Given the description of an element on the screen output the (x, y) to click on. 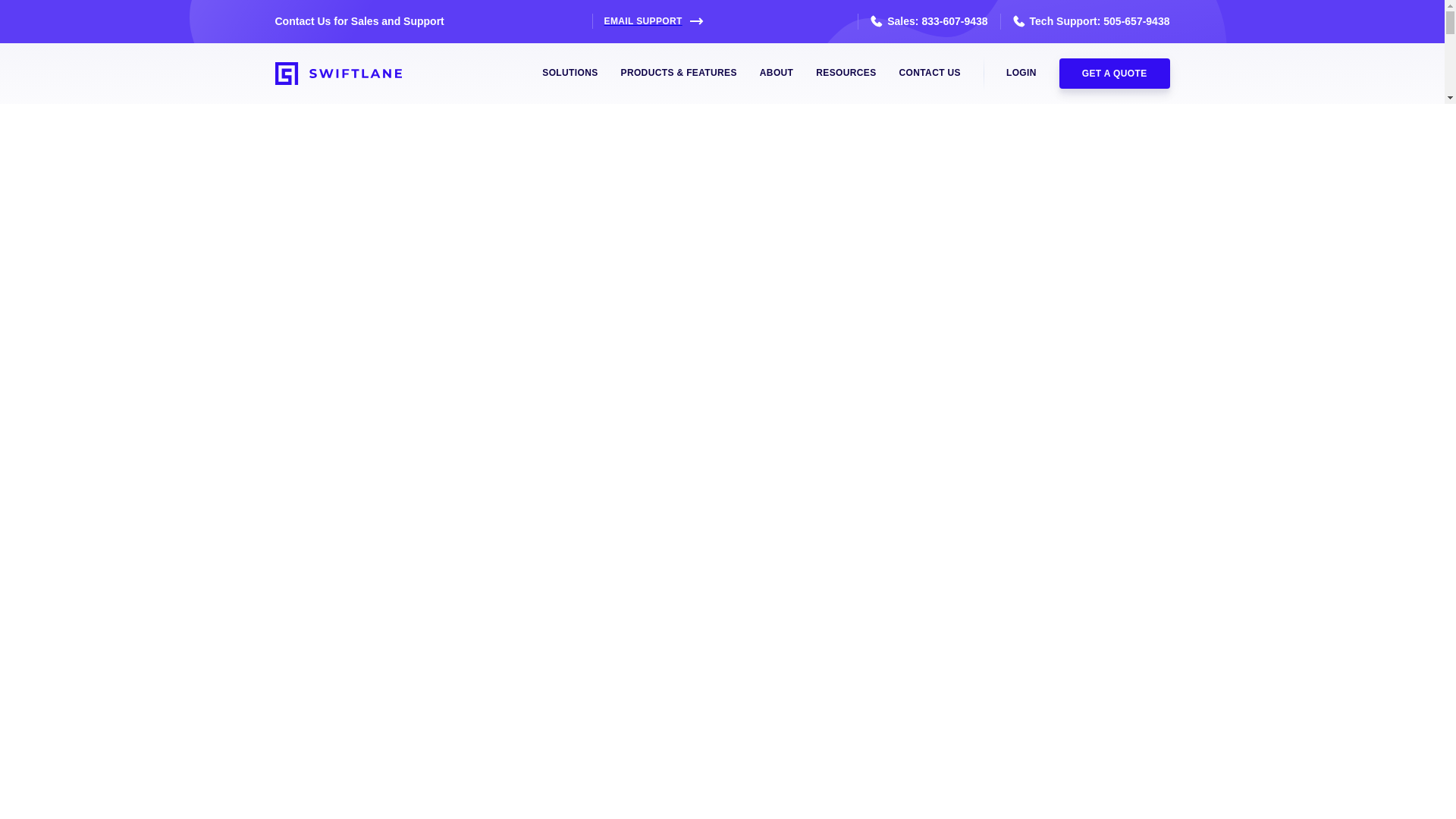
Tech Support: 505-657-9438 (1085, 21)
CONTACT US (929, 73)
RESOURCES (845, 73)
SOLUTIONS (568, 73)
LOGIN (1021, 73)
Sales: 833-607-9438 (922, 21)
EMAIL SUPPORT (647, 20)
ABOUT (776, 73)
